Given the description of an element on the screen output the (x, y) to click on. 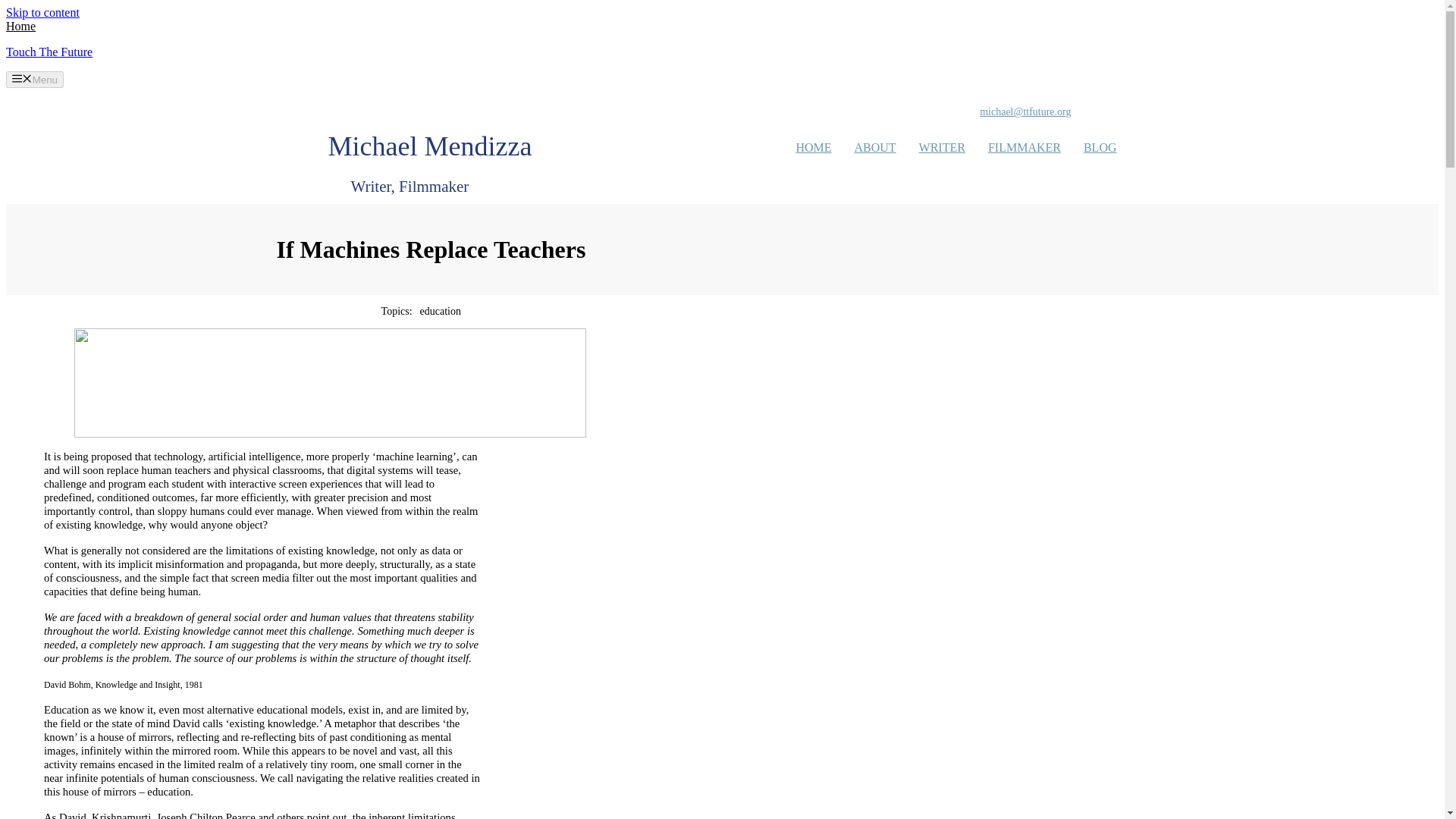
Skip to content (42, 11)
WRITER (941, 146)
FILMMAKER (1024, 147)
WRITER (941, 147)
Home (19, 25)
Skip to content (42, 11)
BLOG (1099, 146)
ABOUT (874, 147)
Menu (34, 79)
ABOUT (874, 146)
HOME (812, 146)
FILMMAKER (1024, 146)
Touch The Future (49, 51)
HOME (812, 147)
